Given the description of an element on the screen output the (x, y) to click on. 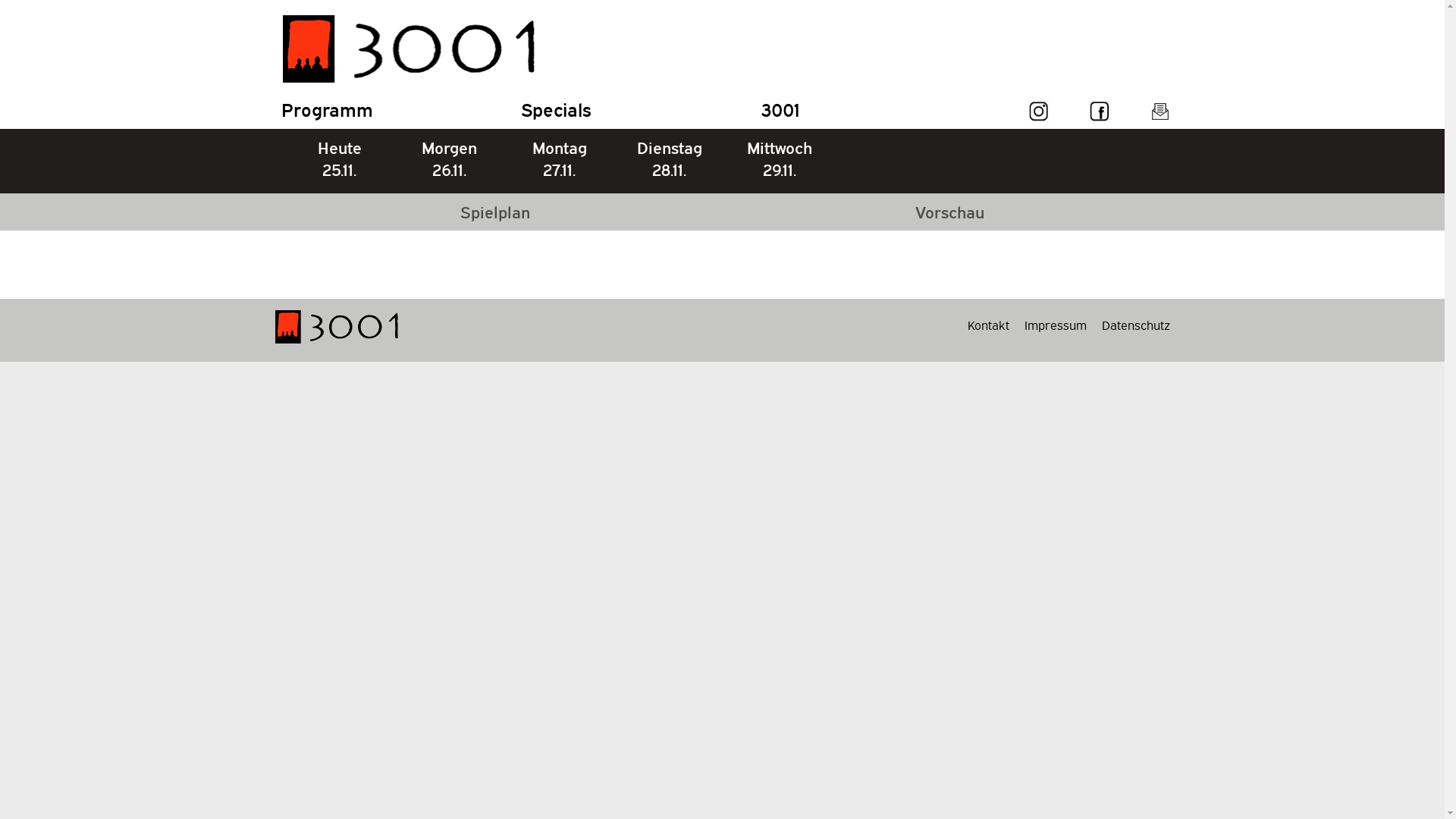
3001 Newsletter Element type: hover (1159, 110)
Dienstag
28.11. Element type: text (669, 160)
3001 Element type: text (779, 108)
Mittwoch
29.11. Element type: text (778, 160)
Programm Element type: text (326, 108)
Kontakt Element type: text (988, 324)
Morgen
26.11. Element type: text (449, 160)
Heute
25.11. Element type: text (338, 160)
das 3001 Kino bei facebook Element type: hover (1098, 110)
das 3001 Kino bei instagram Element type: hover (1037, 110)
Specials Element type: text (555, 108)
Spielplan Element type: text (493, 211)
Datenschutz Element type: text (1135, 324)
Impressum Element type: text (1054, 324)
Montag
27.11. Element type: text (558, 160)
Vorschau Element type: text (948, 211)
